Given the description of an element on the screen output the (x, y) to click on. 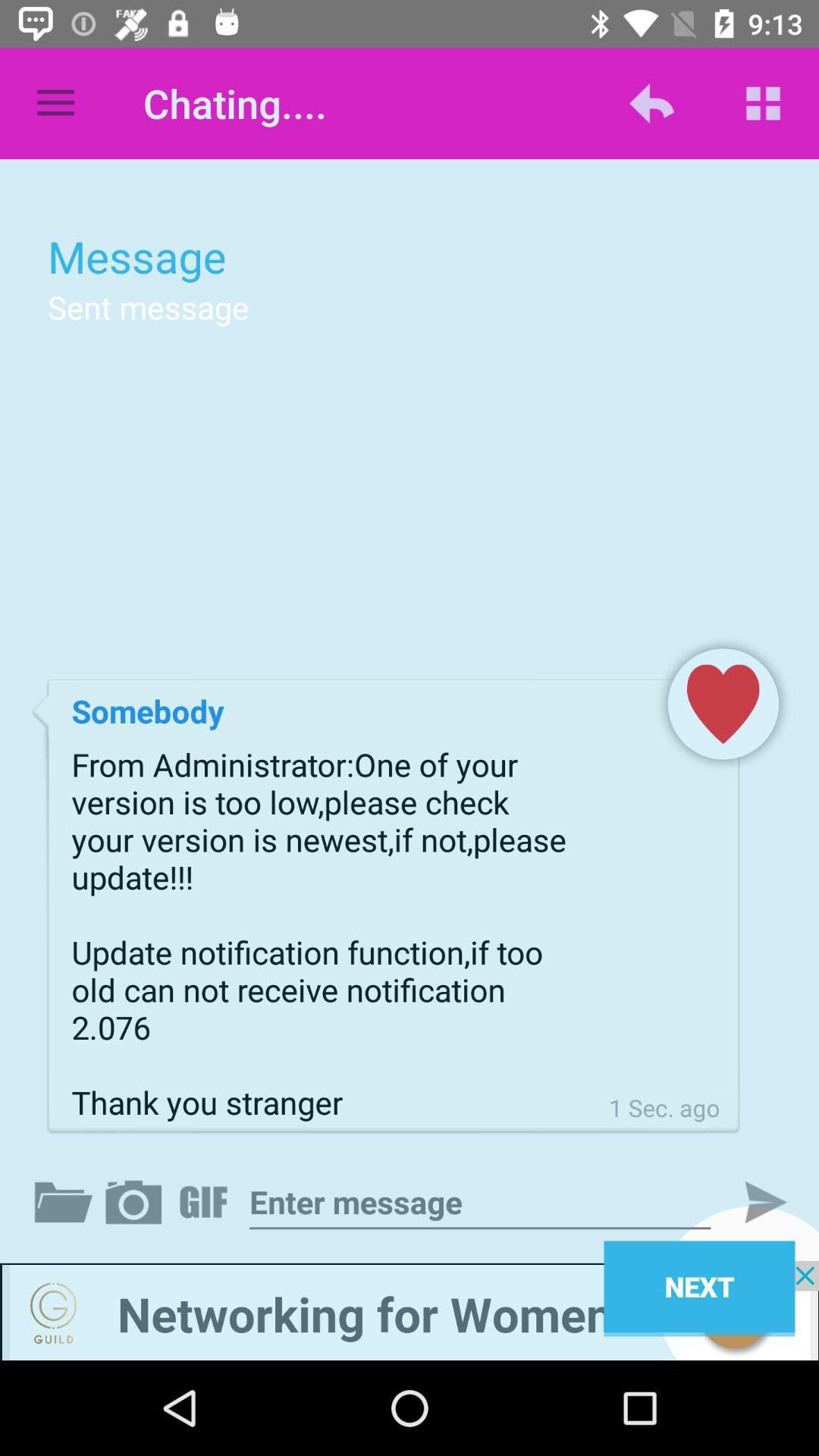
address page (479, 1202)
